Given the description of an element on the screen output the (x, y) to click on. 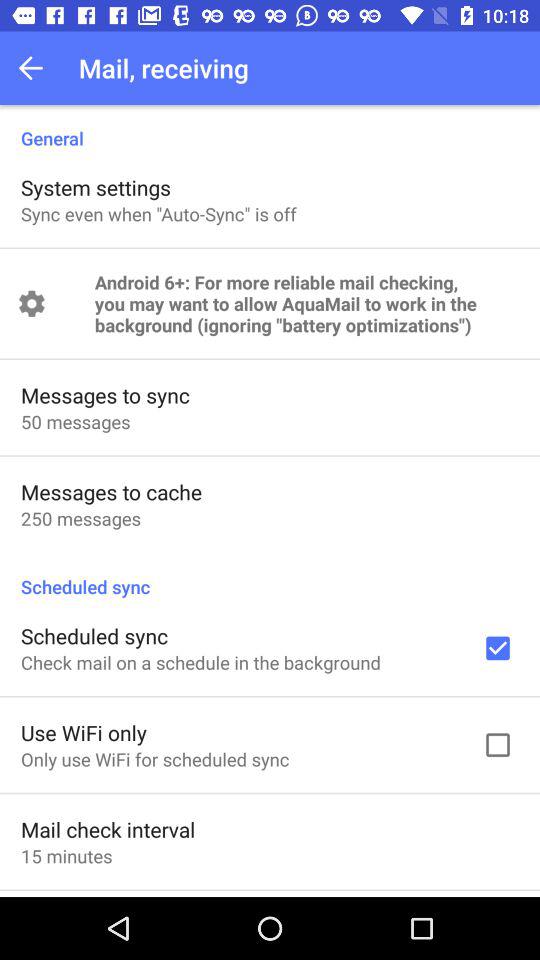
launch item above scheduled sync item (80, 518)
